Given the description of an element on the screen output the (x, y) to click on. 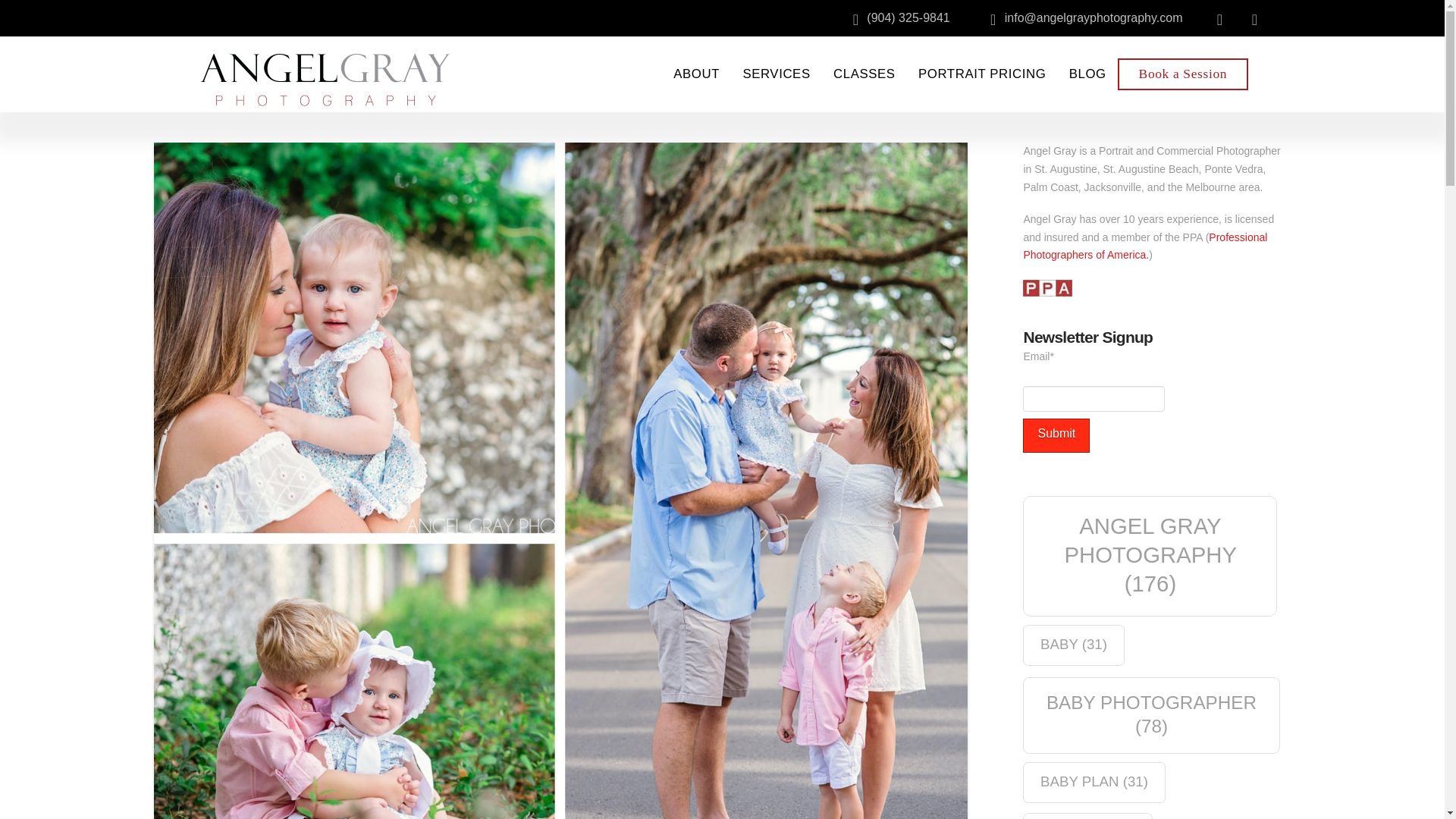
BLOG (1087, 73)
CLASSES (864, 73)
ABOUT (695, 73)
Professional Photographers of America. (1144, 245)
PORTRAIT PRICING (982, 73)
SERVICES (776, 73)
Submit (1056, 435)
Book a Session (1182, 74)
